Given the description of an element on the screen output the (x, y) to click on. 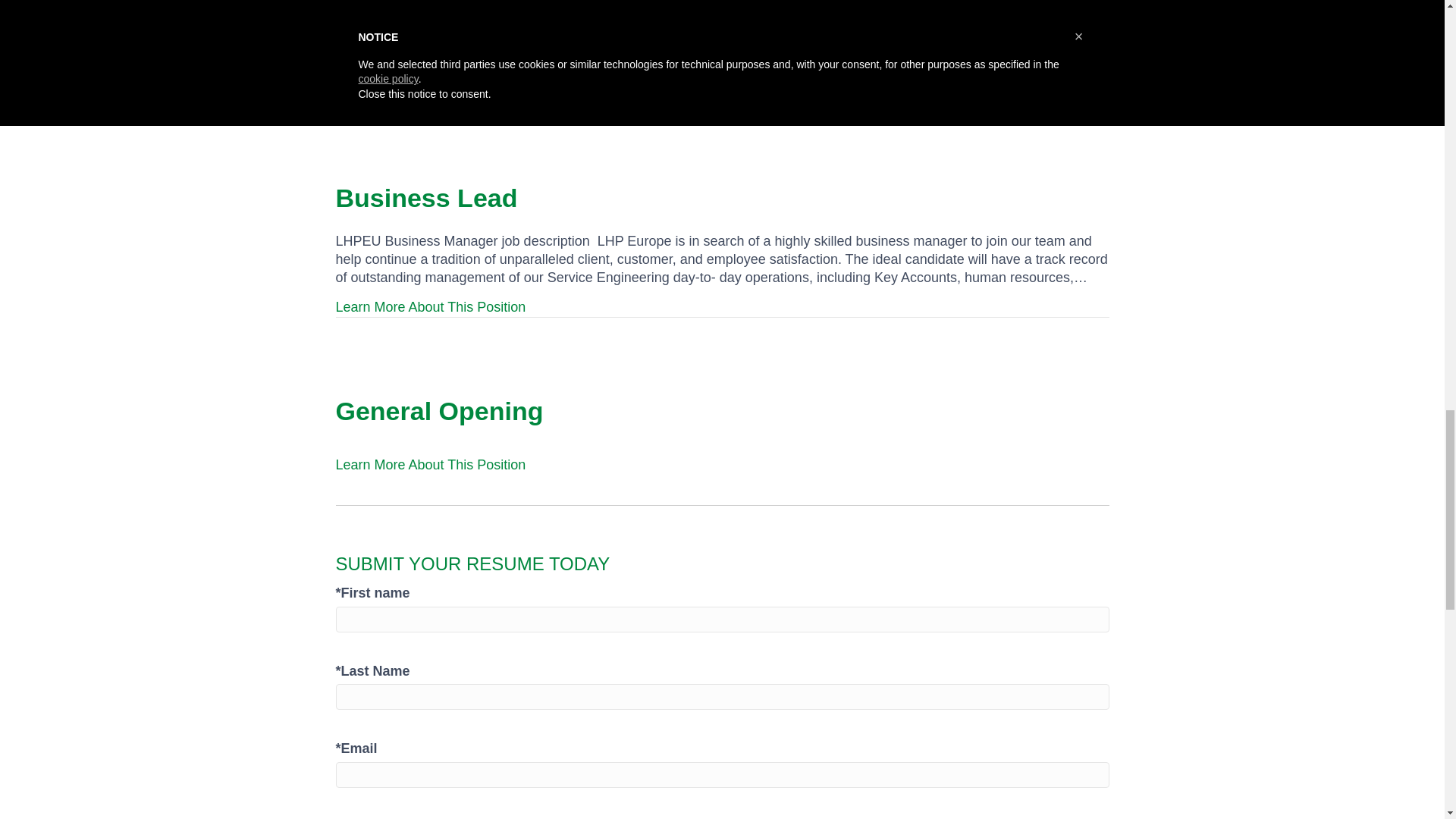
Learn More About This Position (429, 464)
General Opening (438, 410)
Business Lead (425, 197)
General Opening (429, 464)
General Opening (438, 410)
Business Development Manager (533, 8)
Business Development Manager (533, 8)
Learn More About This Position (429, 94)
Business Development Manager (429, 94)
Business Lead (425, 197)
